Given the description of an element on the screen output the (x, y) to click on. 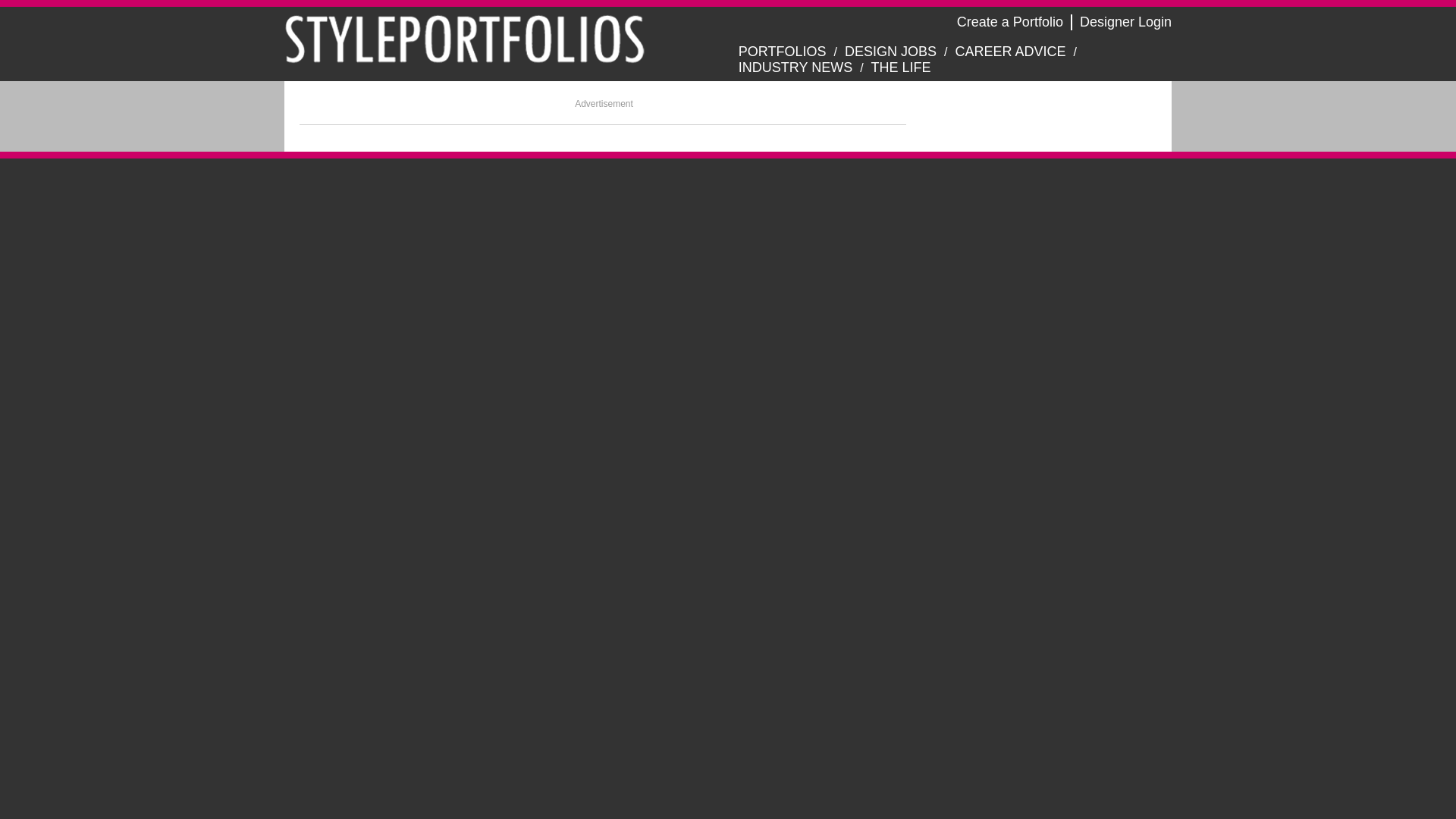
Designer Login (1126, 21)
INDUSTRY NEWS (794, 67)
DESIGN JOBS (890, 51)
THE LIFE (900, 67)
PORTFOLIOS (782, 51)
Create a Portfolio (1009, 21)
CAREER ADVICE (1010, 51)
